Given the description of an element on the screen output the (x, y) to click on. 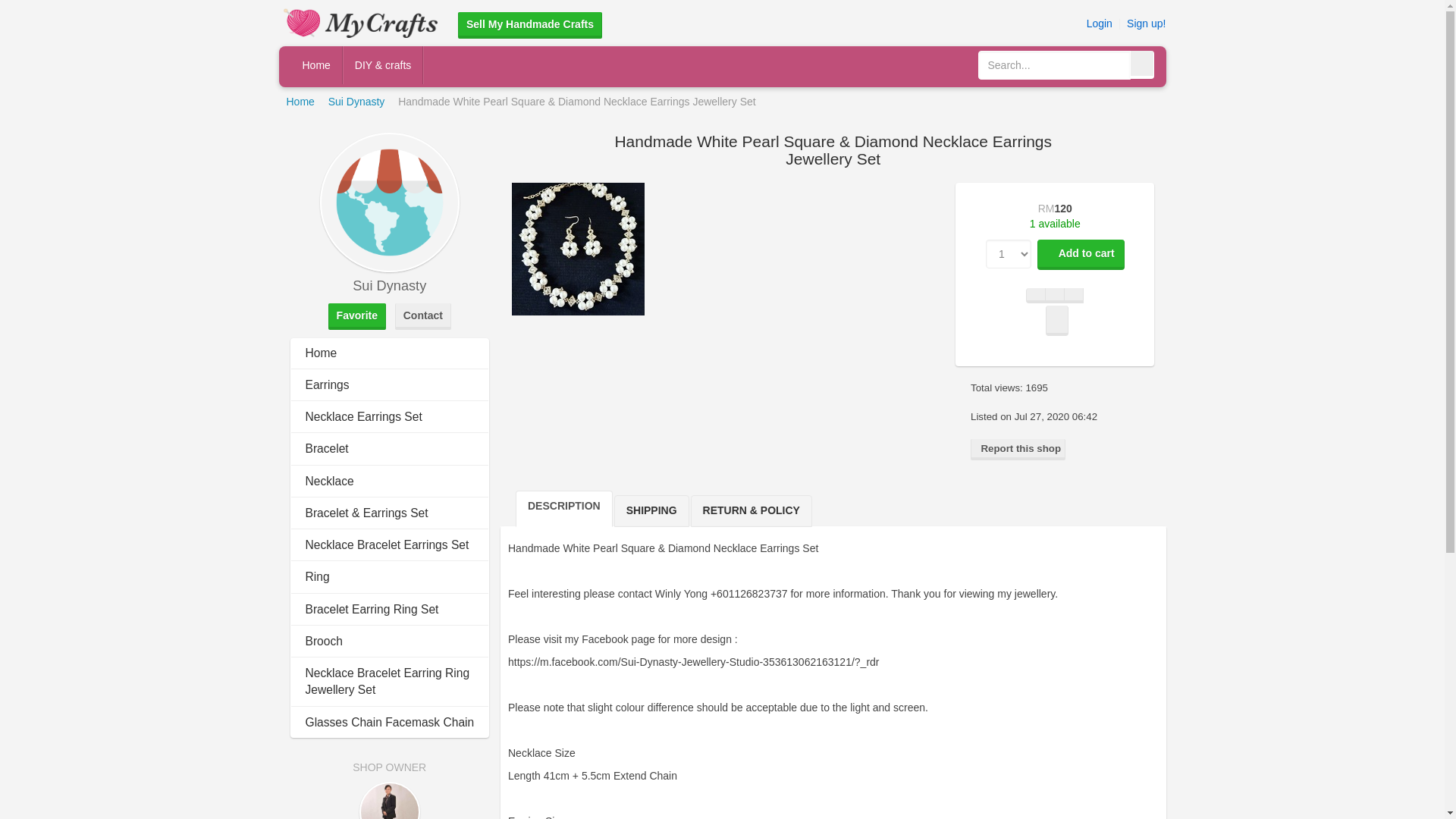
Necklace (328, 481)
MyCrafts.com (362, 21)
Sui Dynasty (389, 201)
Sui Dynasty (357, 101)
Earrings (326, 384)
Earrings (326, 384)
Sign up! (1146, 23)
  Report this shop (1018, 449)
Sui Dynasty (357, 101)
Bracelet (325, 448)
Favorite (357, 316)
Glasses Chain Facemask Chain (389, 721)
    Add to cart (1080, 254)
Like On Facebook (1035, 295)
Ring (316, 576)
